Given the description of an element on the screen output the (x, y) to click on. 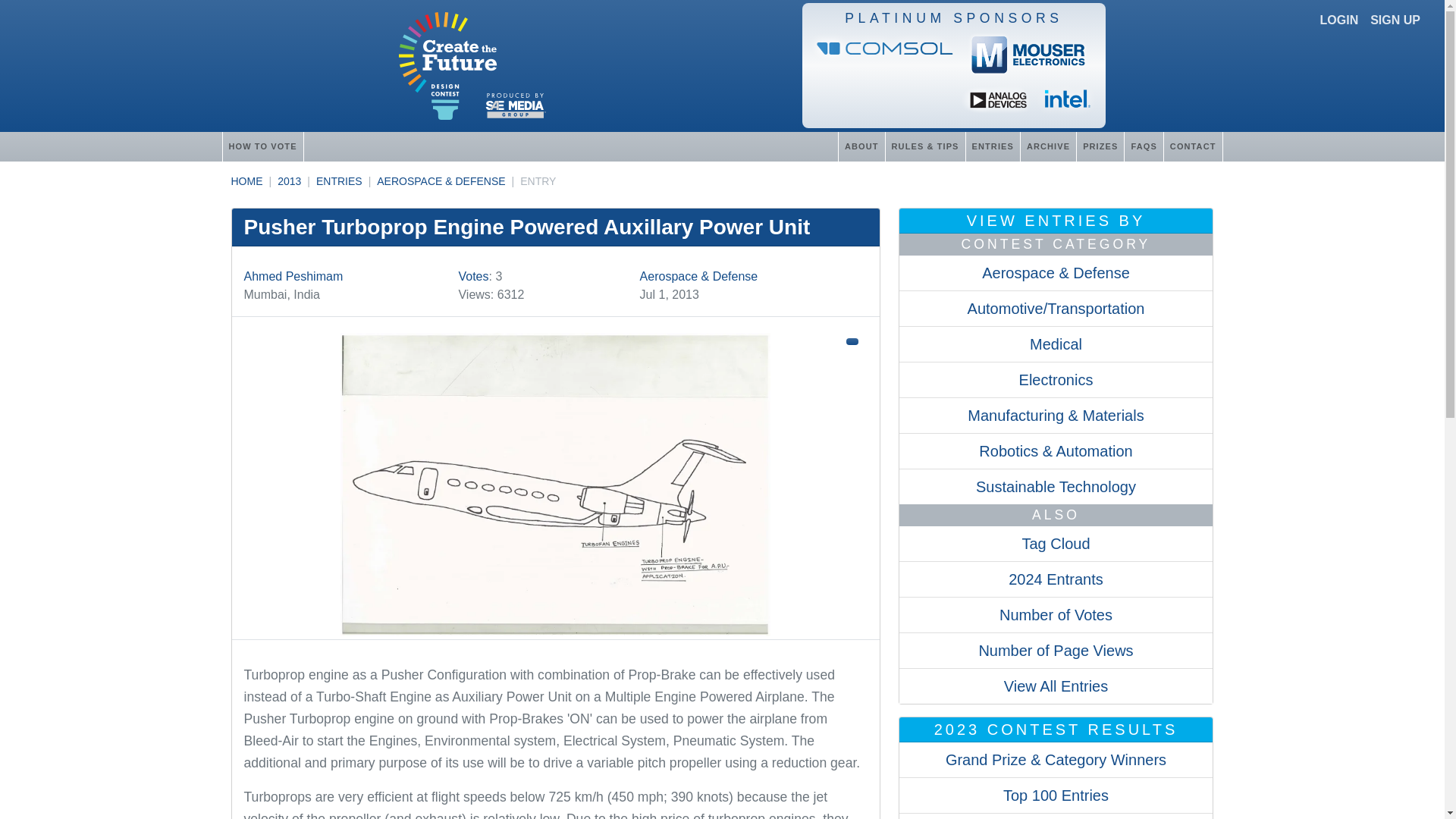
SIGN UP (1395, 20)
ENTRIES (338, 181)
Ahmed Peshimam (293, 276)
LOGIN (1339, 20)
2013 (289, 181)
HOW TO VOTE (261, 146)
HOME (246, 181)
ARCHIVE (1047, 146)
Votes (472, 276)
FAQS (1142, 146)
CONTACT (1193, 146)
ENTRIES (992, 146)
PRIZES (1099, 146)
ABOUT (861, 146)
